Given the description of an element on the screen output the (x, y) to click on. 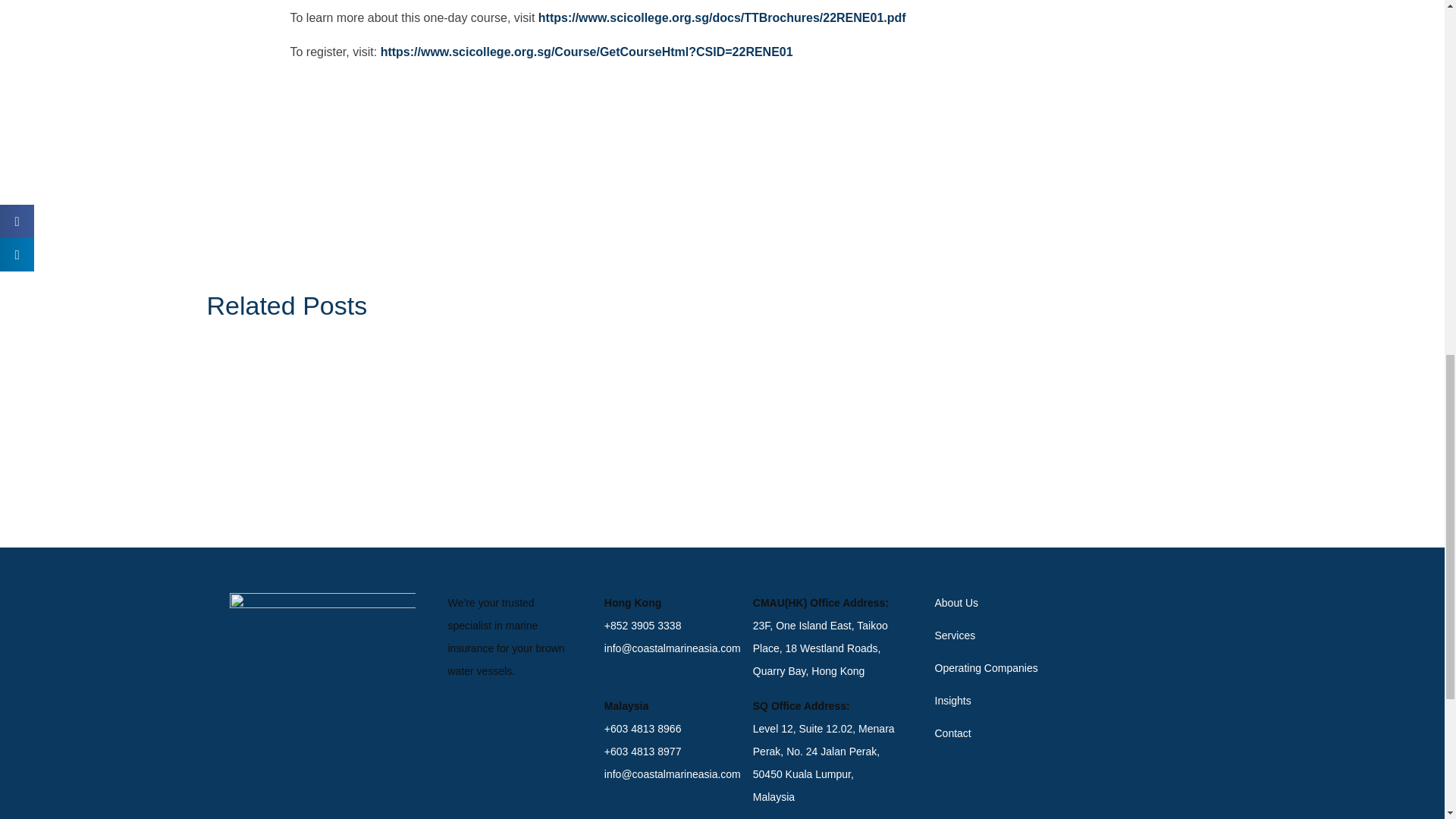
Services (998, 635)
Operating Companies (998, 668)
About Us (998, 602)
Insights (998, 700)
